Given the description of an element on the screen output the (x, y) to click on. 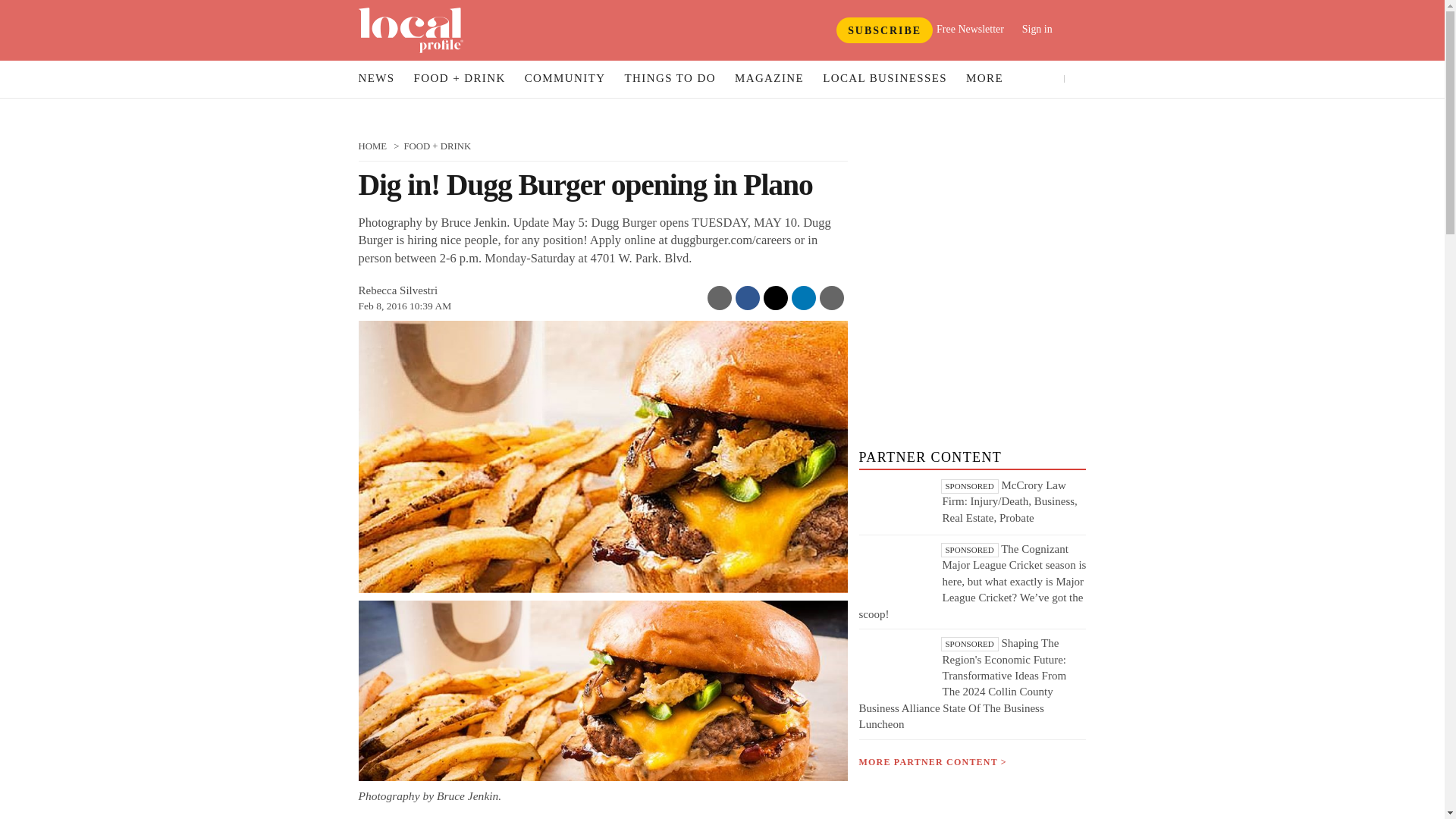
COMMUNITY (565, 79)
THINGS TO DO (669, 79)
NEWS (376, 79)
MAGAZINE (769, 79)
SUBSCRIBE (884, 30)
HOME (372, 145)
LOCAL BUSINESSES (884, 79)
Sign in (1048, 28)
Free Newsletter (970, 29)
